Given the description of an element on the screen output the (x, y) to click on. 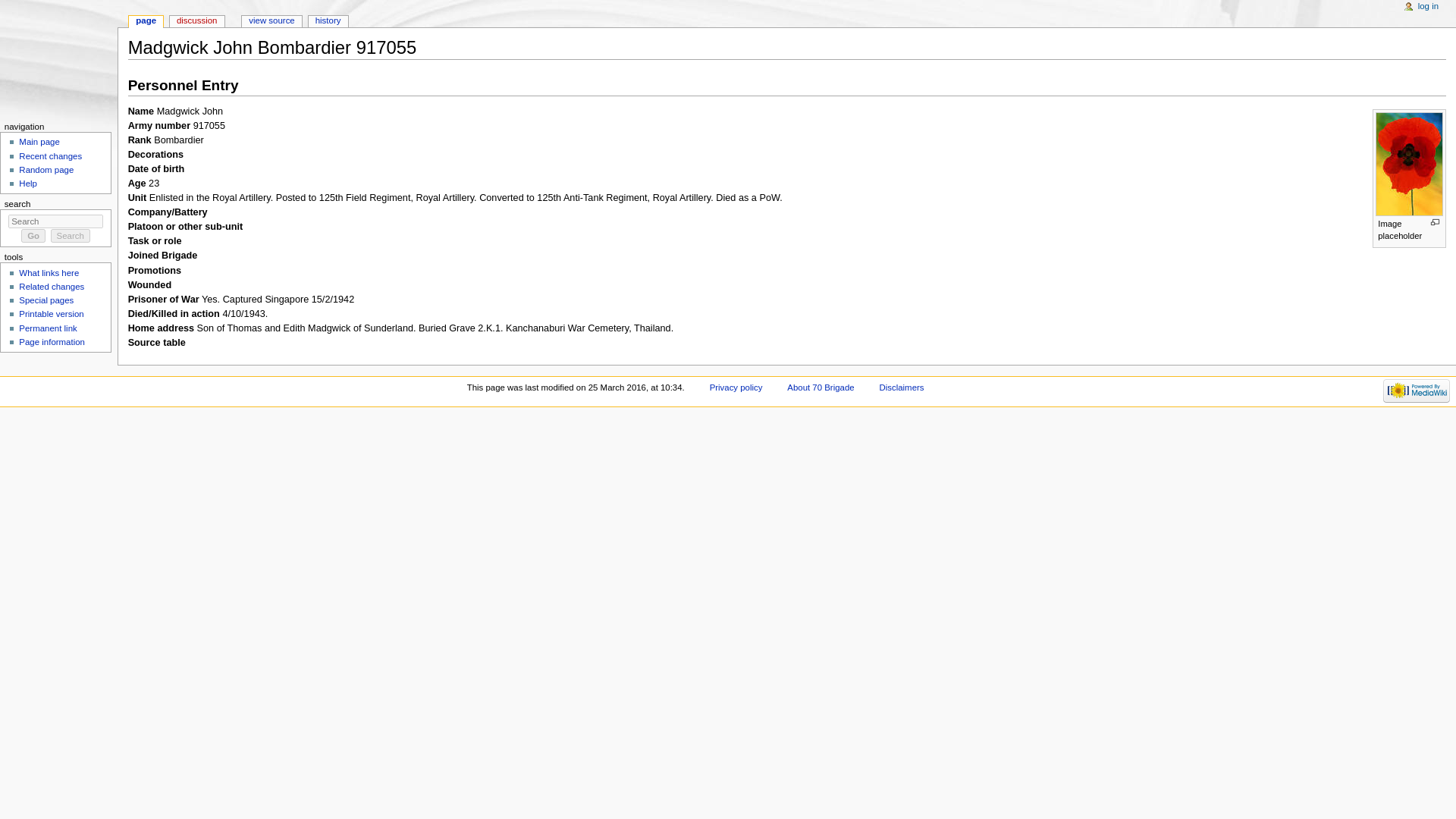
Go (33, 235)
Page information (51, 341)
Permanent link (47, 327)
Main page (38, 141)
Printable version (50, 313)
Recent changes (49, 155)
Visit the main page (58, 58)
Special pages (46, 299)
log in (1428, 6)
The place to find out (27, 183)
Search (70, 235)
discussion (197, 21)
history (327, 21)
view source (271, 21)
Go (33, 235)
